Given the description of an element on the screen output the (x, y) to click on. 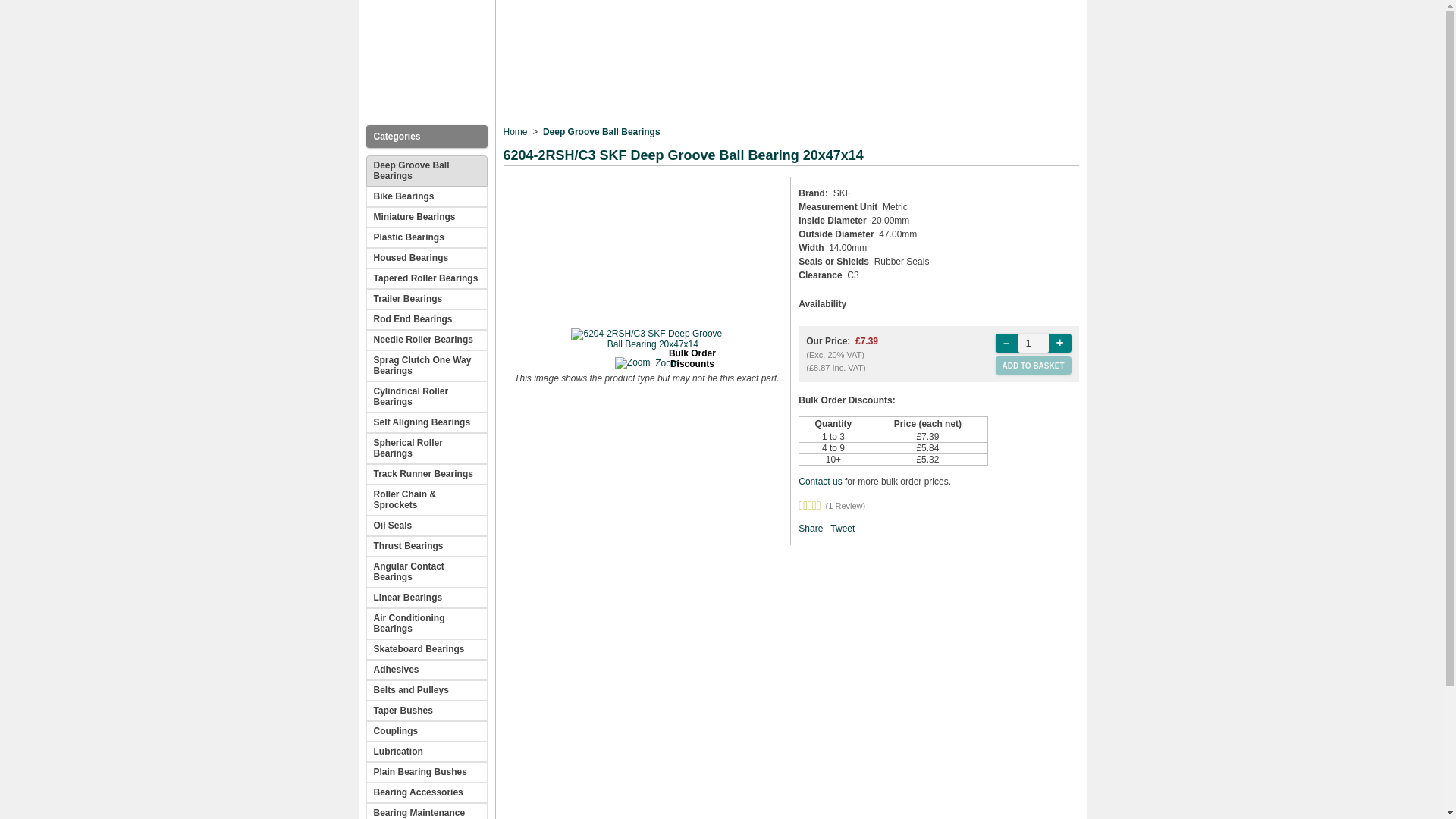
Zoom (666, 362)
Spherical Roller Bearings (425, 448)
Deep Groove Ball Bearings (602, 131)
Belts and Pulleys (425, 690)
Plastic Bearings (425, 237)
Bike Bearings (425, 196)
Skateboard Bearings (425, 649)
Self Aligning Bearings (425, 422)
Lubrication (425, 752)
Oil Seals (425, 525)
